Given the description of an element on the screen output the (x, y) to click on. 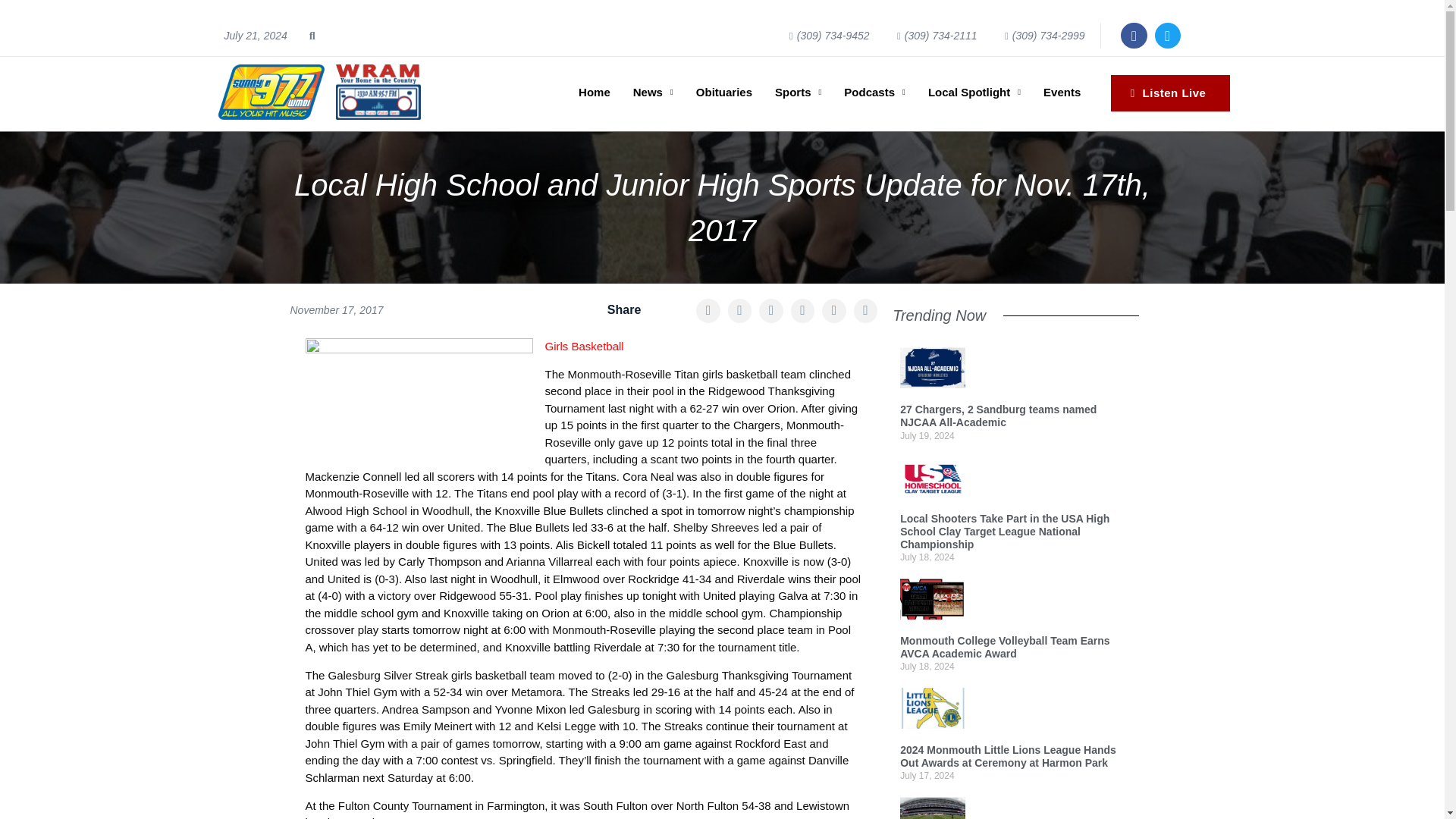
Events (1062, 92)
Podcasts (874, 92)
Sports (798, 92)
News (652, 92)
Local Spotlight (974, 92)
Home (594, 92)
Obituaries (724, 92)
